Given the description of an element on the screen output the (x, y) to click on. 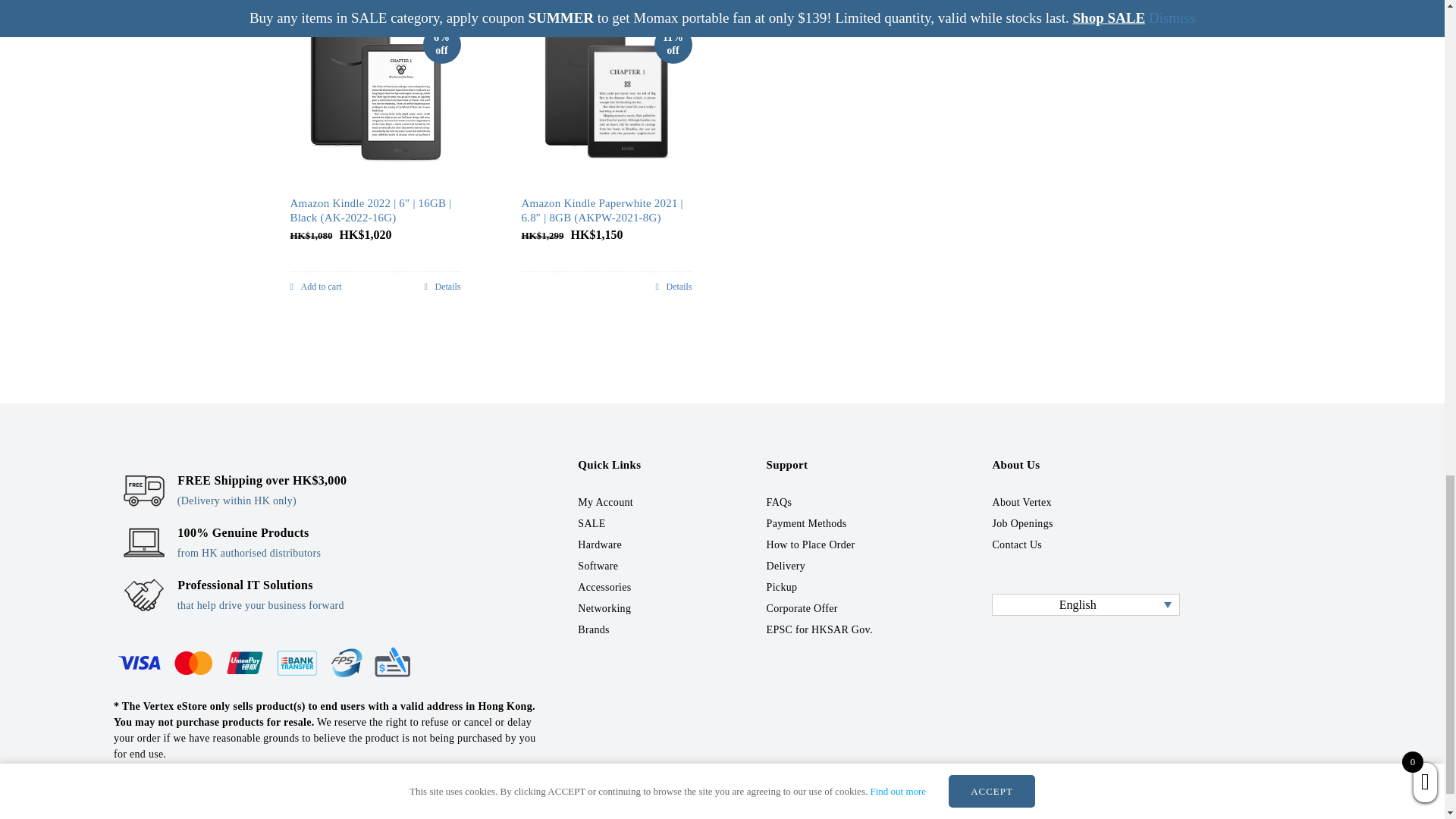
Payment Methods (264, 662)
Free Shipping (143, 489)
One-Stop IT Solutions (143, 594)
